Given the description of an element on the screen output the (x, y) to click on. 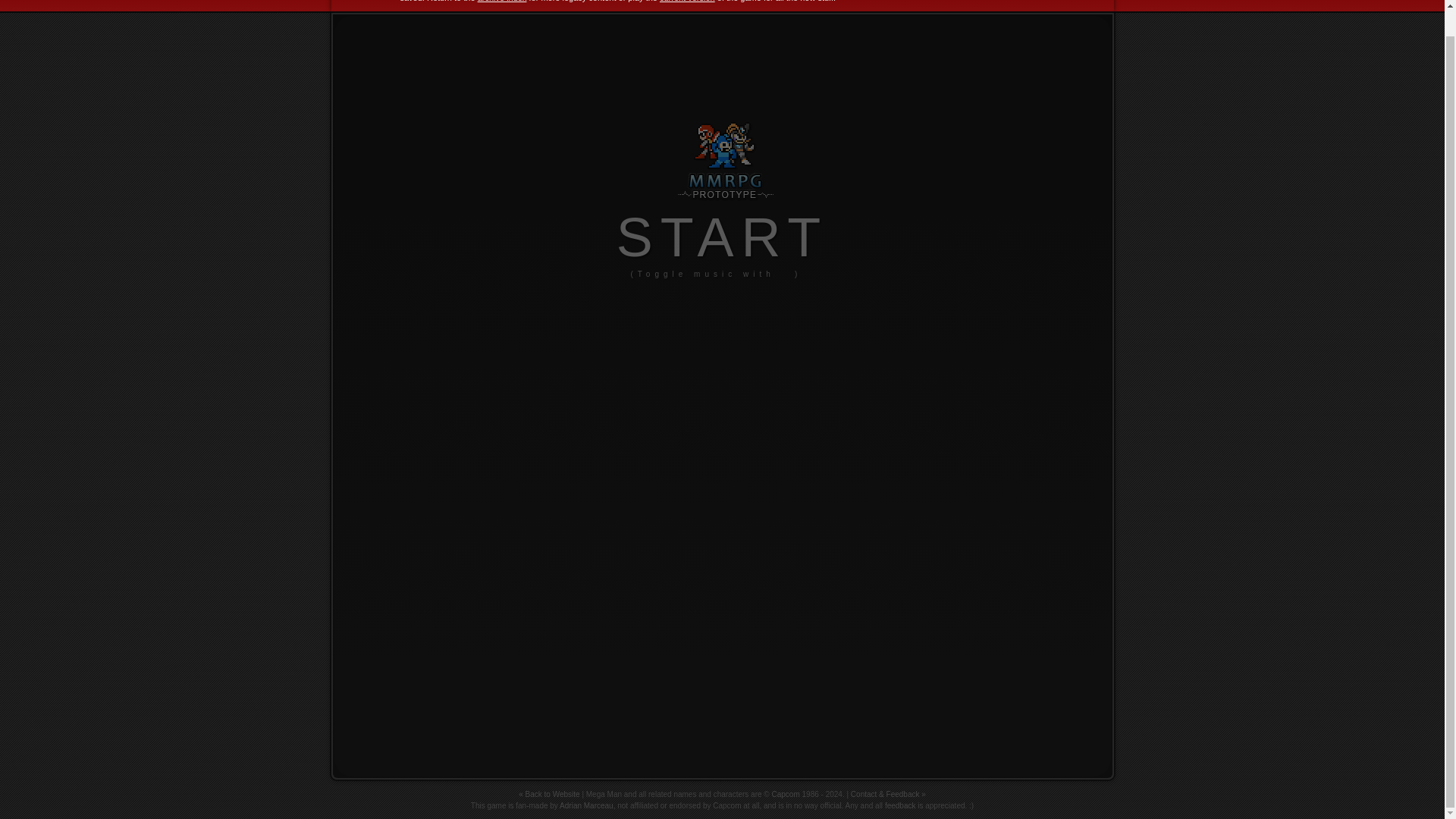
feedback (900, 805)
Capcom (785, 794)
Adrian Marceau (585, 805)
current version (686, 1)
archive index (502, 1)
